Given the description of an element on the screen output the (x, y) to click on. 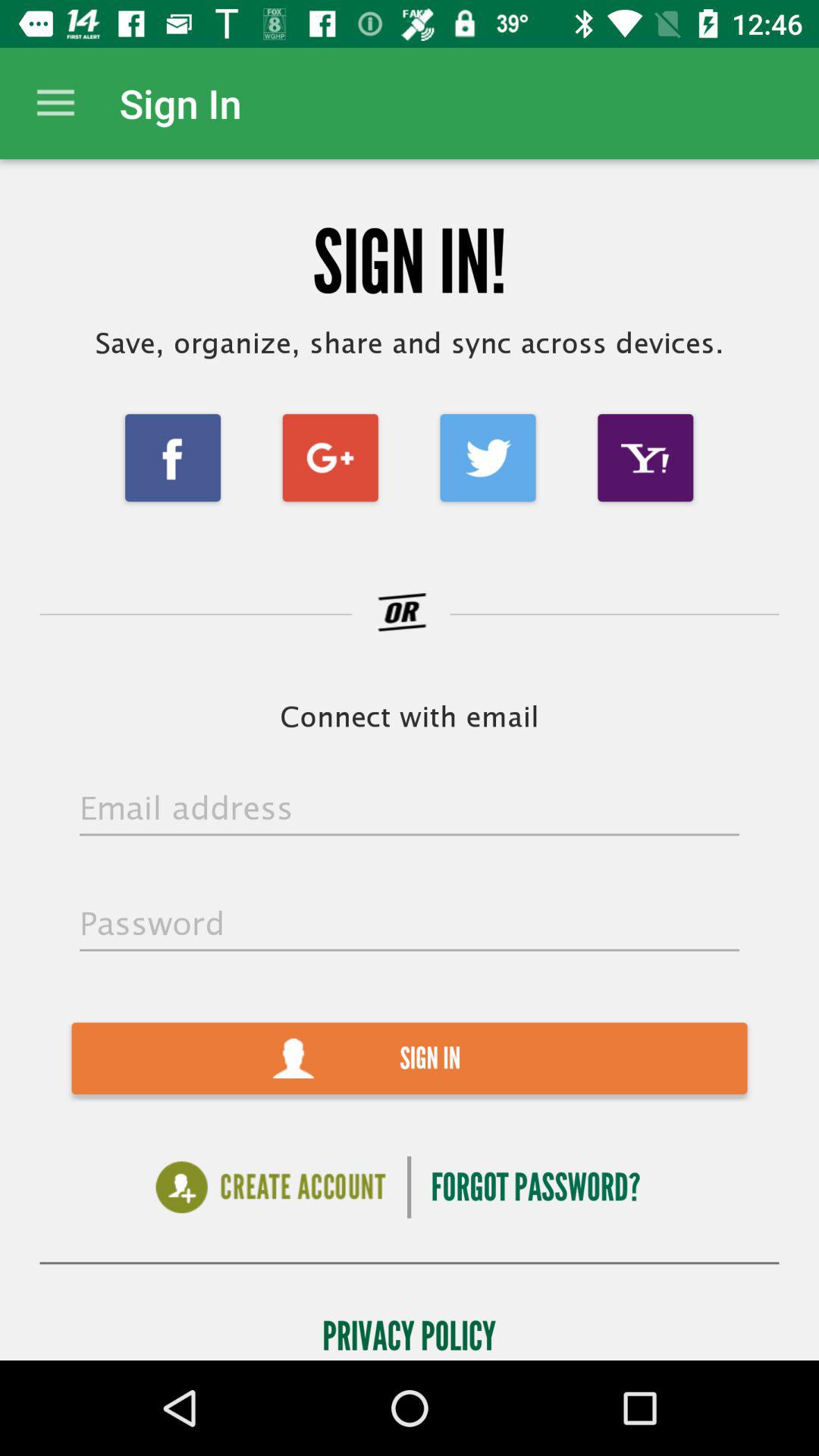
create an account (270, 1187)
